Given the description of an element on the screen output the (x, y) to click on. 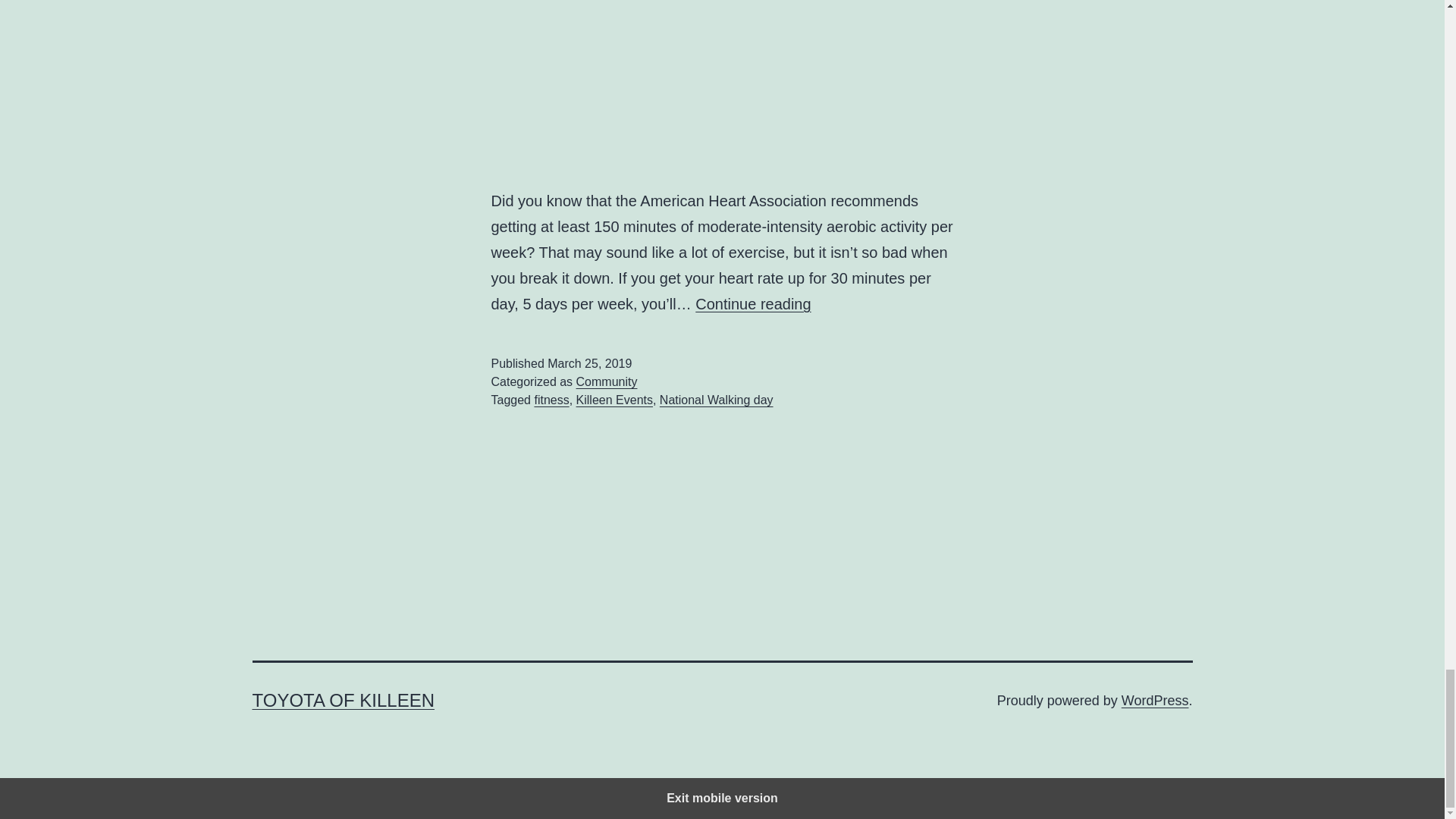
Killeen Events (614, 399)
National Walking day (716, 399)
Community (606, 381)
WordPress (1155, 700)
TOYOTA OF KILLEEN (342, 700)
fitness (551, 399)
